Given the description of an element on the screen output the (x, y) to click on. 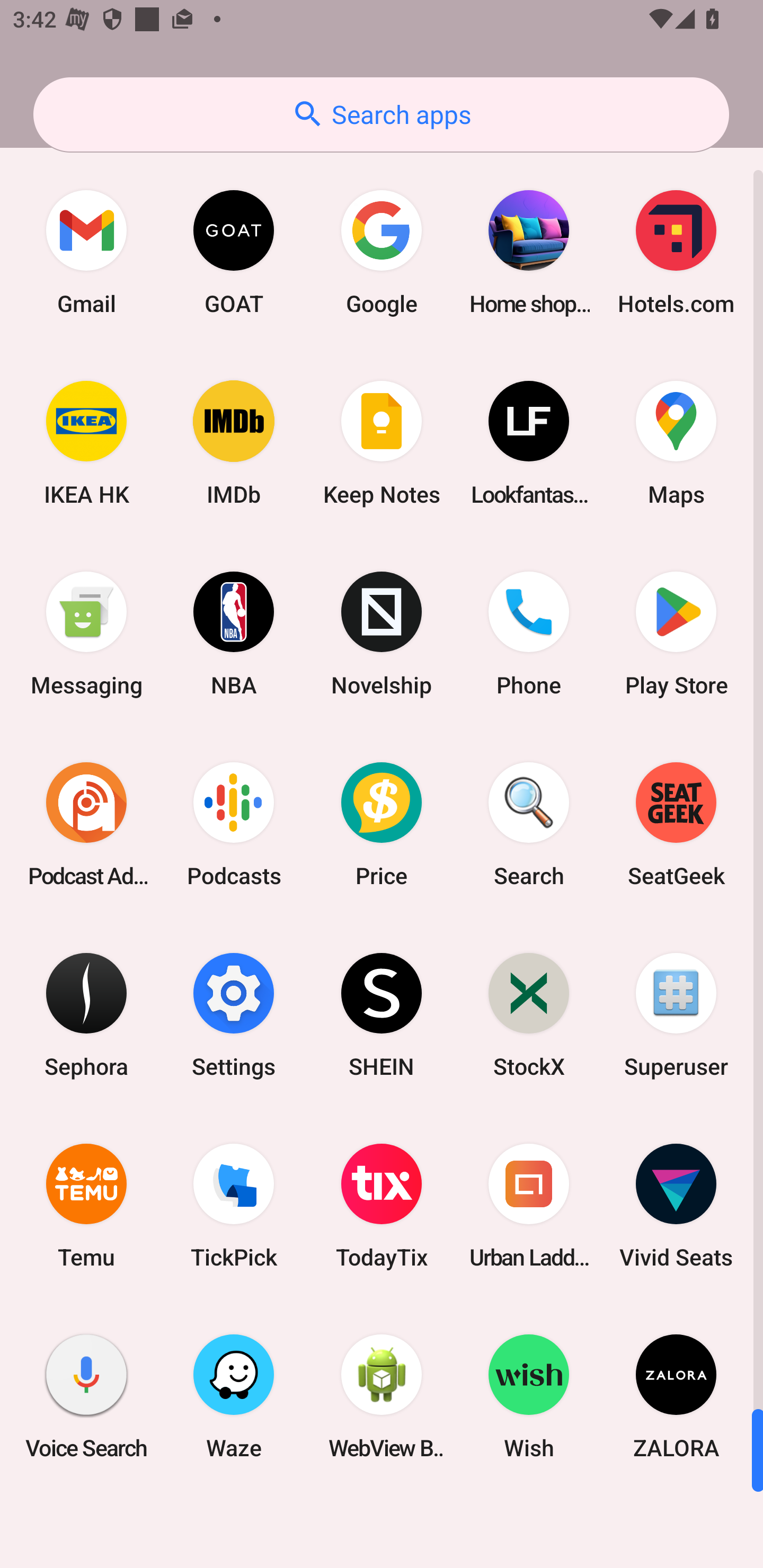
  Search apps (381, 114)
Gmail (86, 252)
GOAT (233, 252)
Google (381, 252)
Home shopping (528, 252)
Hotels.com (676, 252)
IKEA HK (86, 442)
IMDb (233, 442)
Keep Notes (381, 442)
Lookfantastic (528, 442)
Maps (676, 442)
Messaging (86, 633)
NBA (233, 633)
Novelship (381, 633)
Phone (528, 633)
Play Store (676, 633)
Podcast Addict (86, 823)
Podcasts (233, 823)
Price (381, 823)
Search (528, 823)
SeatGeek (676, 823)
Sephora (86, 1014)
Settings (233, 1014)
SHEIN (381, 1014)
StockX (528, 1014)
Superuser (676, 1014)
Temu (86, 1205)
TickPick (233, 1205)
TodayTix (381, 1205)
Urban Ladder (528, 1205)
Vivid Seats (676, 1205)
Voice Search (86, 1396)
Waze (233, 1396)
WebView Browser Tester (381, 1396)
Wish (528, 1396)
ZALORA (676, 1396)
